Given the description of an element on the screen output the (x, y) to click on. 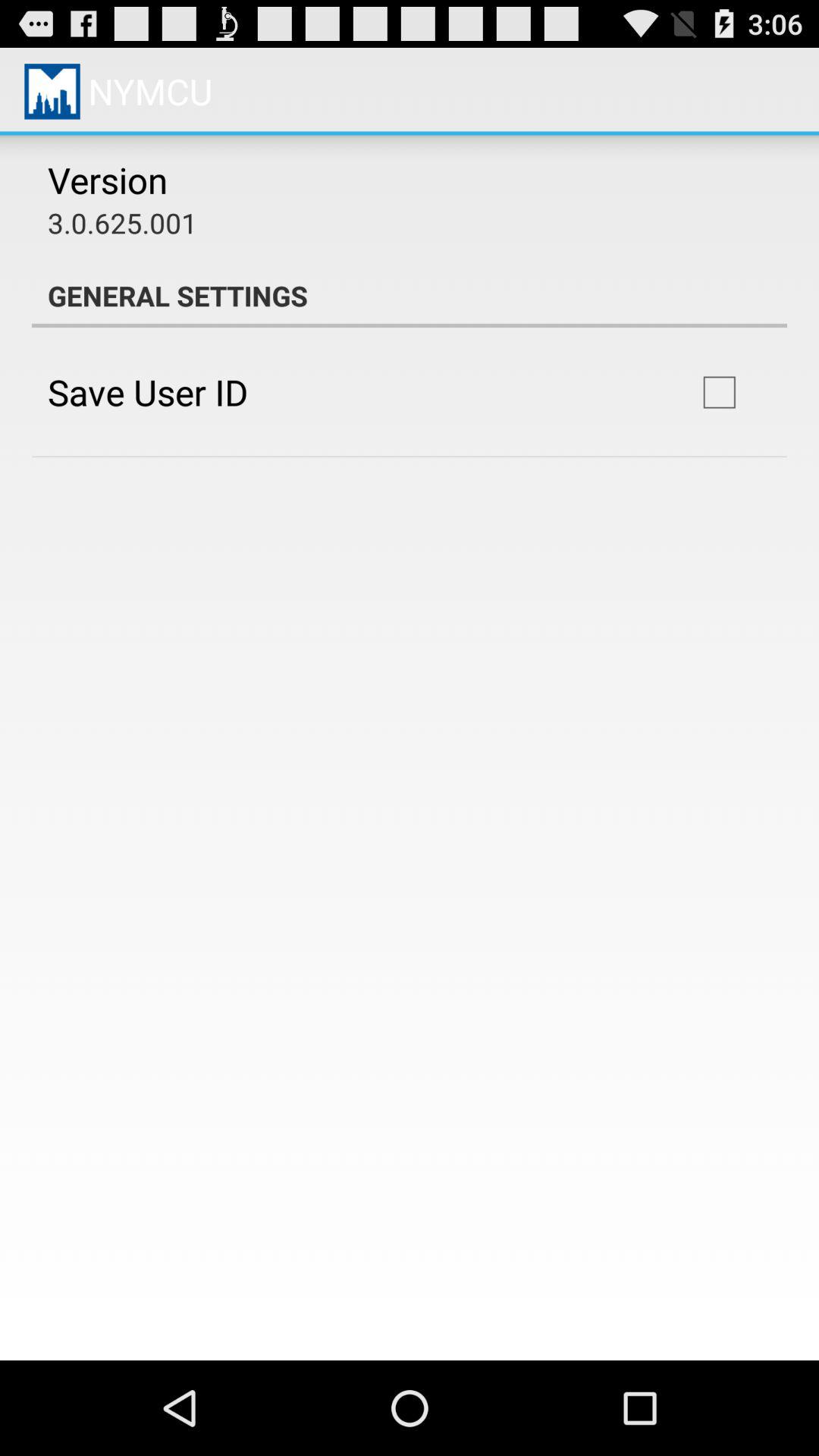
choose general settings item (409, 295)
